Given the description of an element on the screen output the (x, y) to click on. 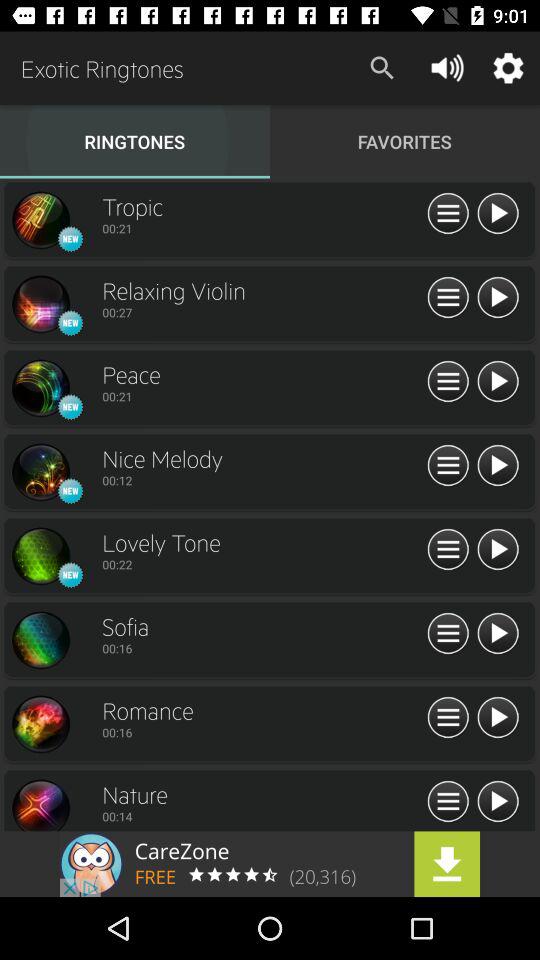
create new playlist (447, 465)
